Given the description of an element on the screen output the (x, y) to click on. 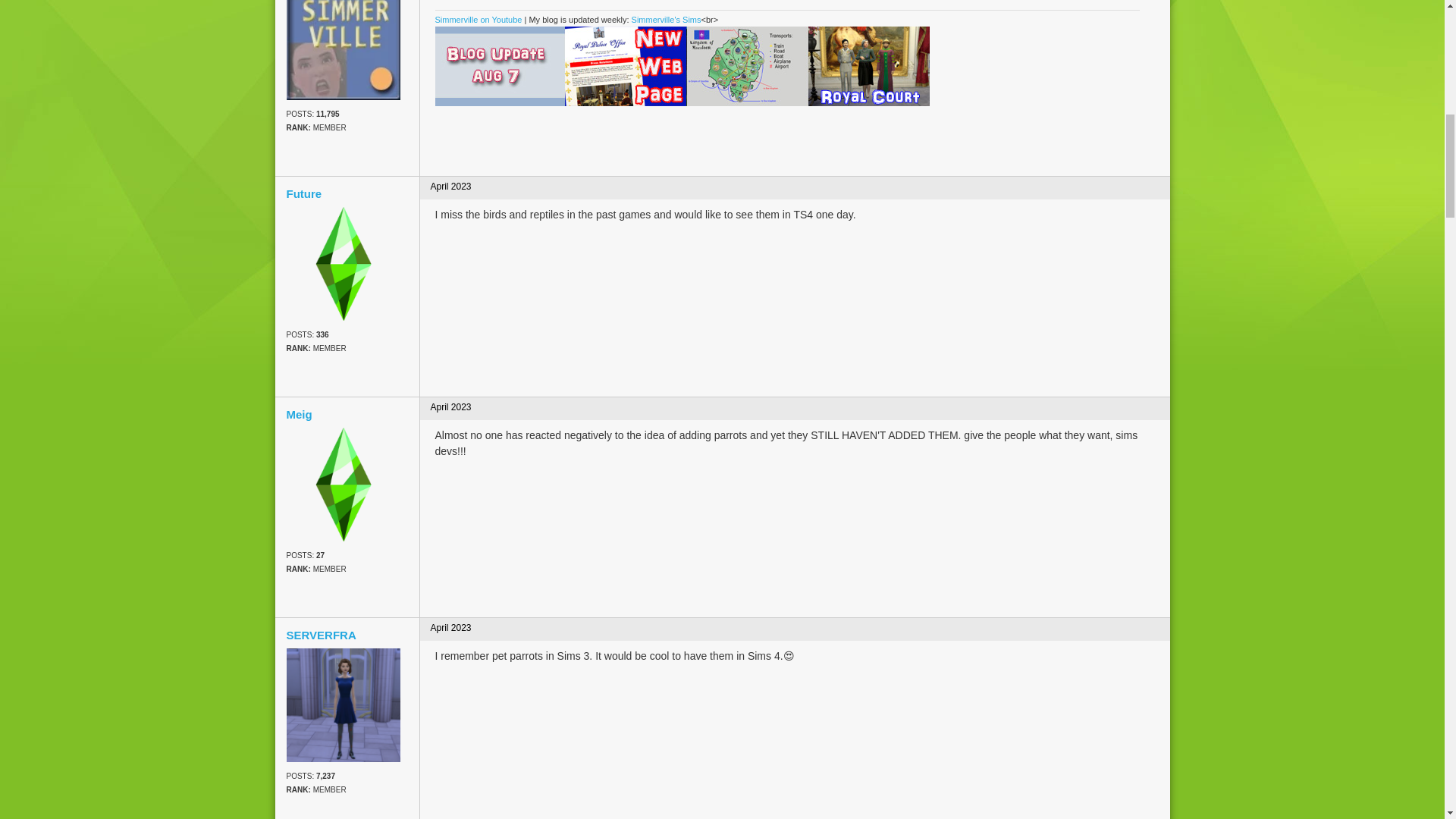
April 26, 2023 9:15PM (450, 407)
SERVERFRA (343, 705)
Member (346, 789)
Future (346, 193)
Simmerville's Sims (666, 19)
Simmerville (343, 49)
Meig (343, 484)
Member (346, 569)
April 2023 (450, 407)
April 2023 (450, 185)
